Given the description of an element on the screen output the (x, y) to click on. 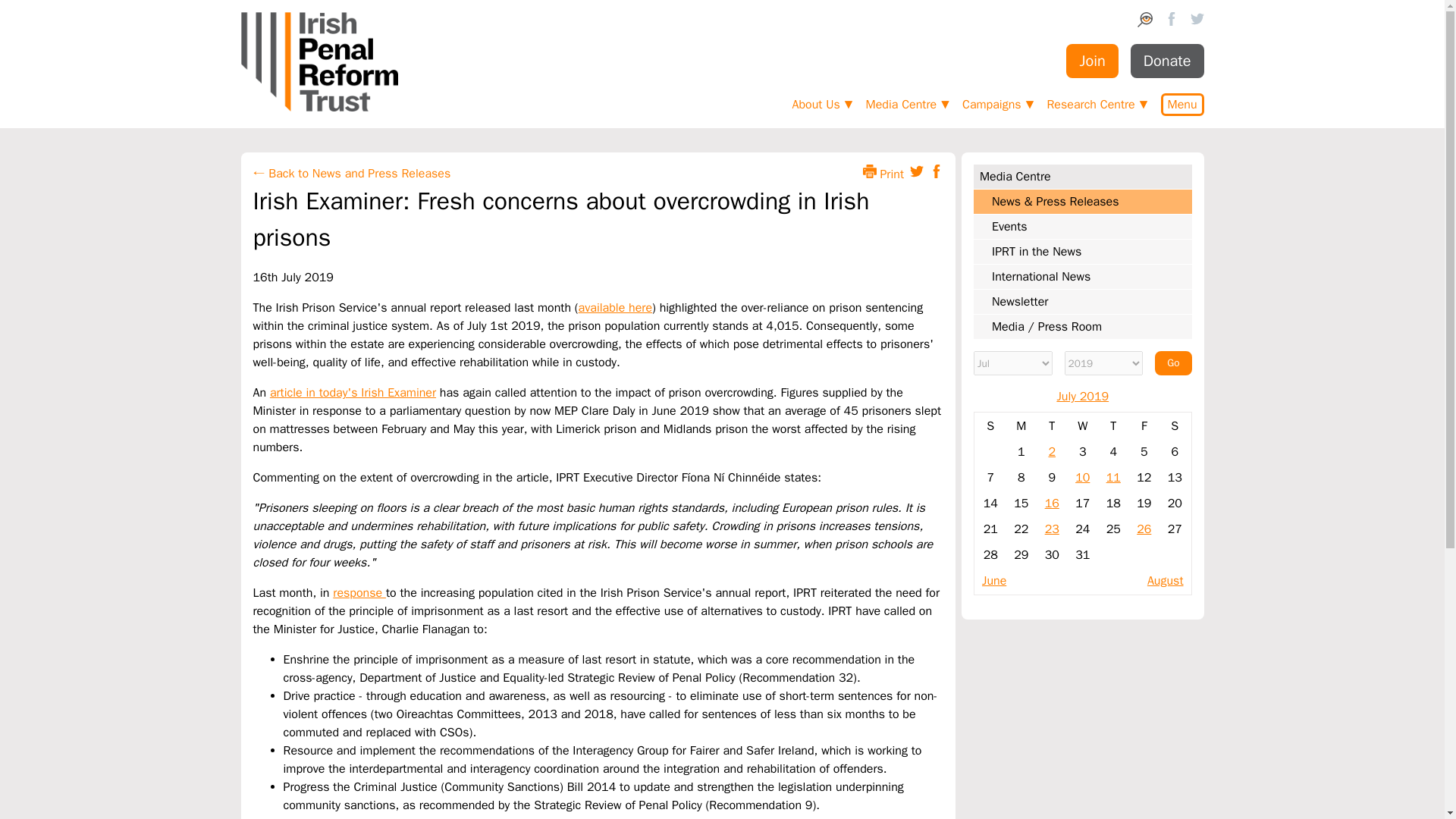
Search (1145, 23)
View posts for June 2019 (993, 580)
View all posts for this month (1082, 396)
IPRT on Facebook (1170, 21)
available here (615, 307)
response (359, 592)
IPRT on Twitter (1197, 21)
View posts for August 2019 (1165, 580)
article from the Irish Examiner (352, 392)
